Given the description of an element on the screen output the (x, y) to click on. 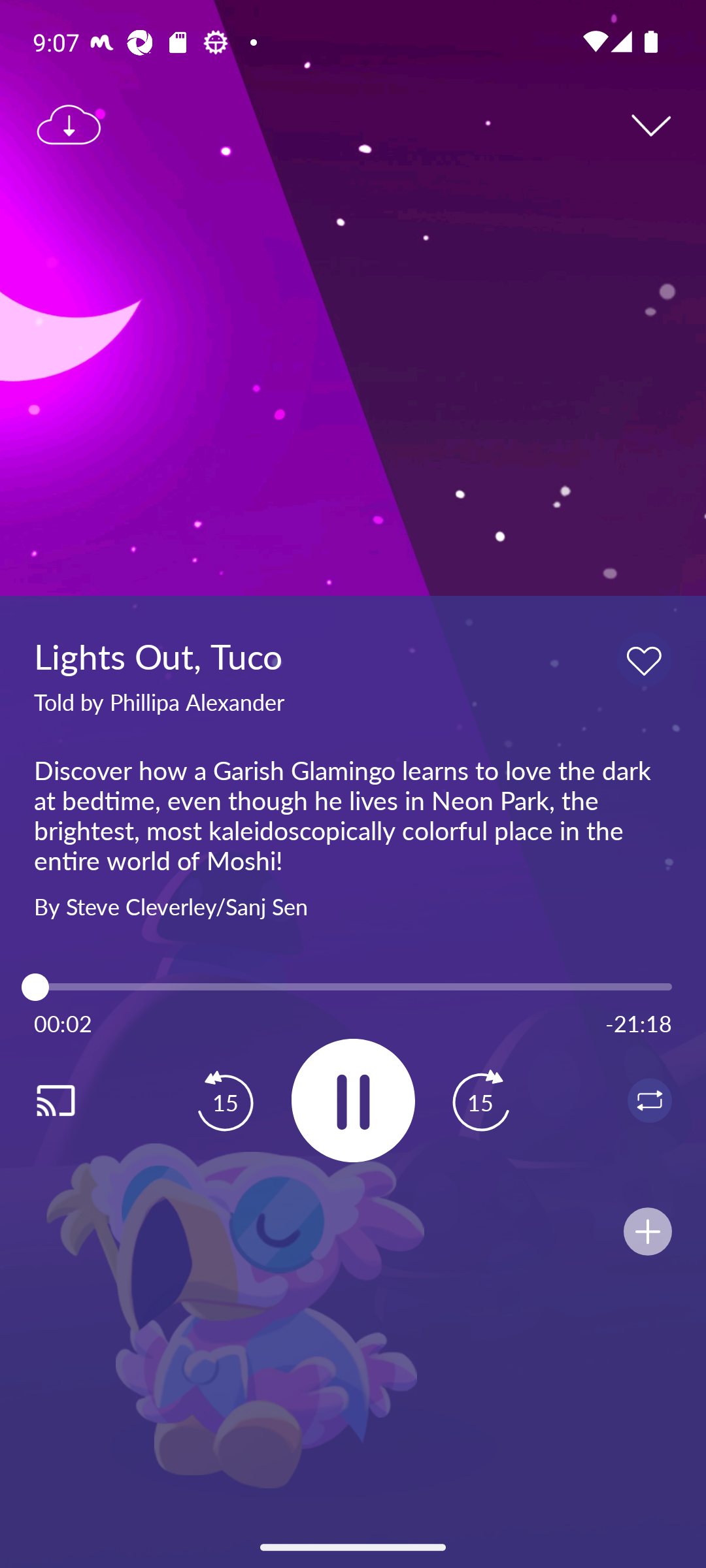
2.0 (352, 986)
Cast. Disconnected (76, 1100)
